Given the description of an element on the screen output the (x, y) to click on. 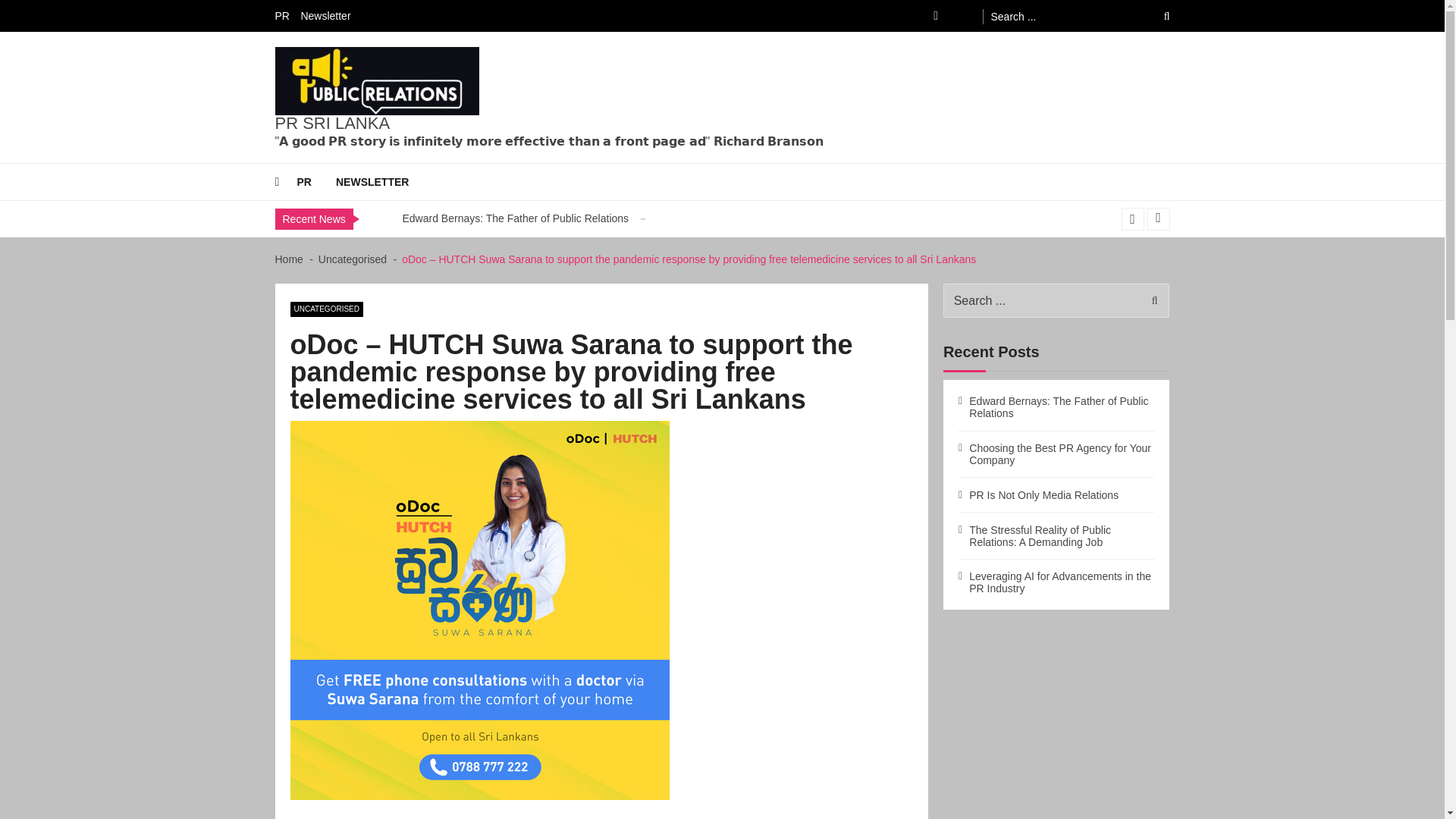
PR (316, 181)
Newsletter (328, 15)
Search (1156, 15)
Search (1150, 300)
NEWSLETTER (384, 181)
Search (1156, 15)
Search (1150, 300)
PR SRI LANKA (332, 123)
Search (1156, 15)
PR (286, 15)
Edward Bernays: The Father of Public Relations (514, 218)
